Given the description of an element on the screen output the (x, y) to click on. 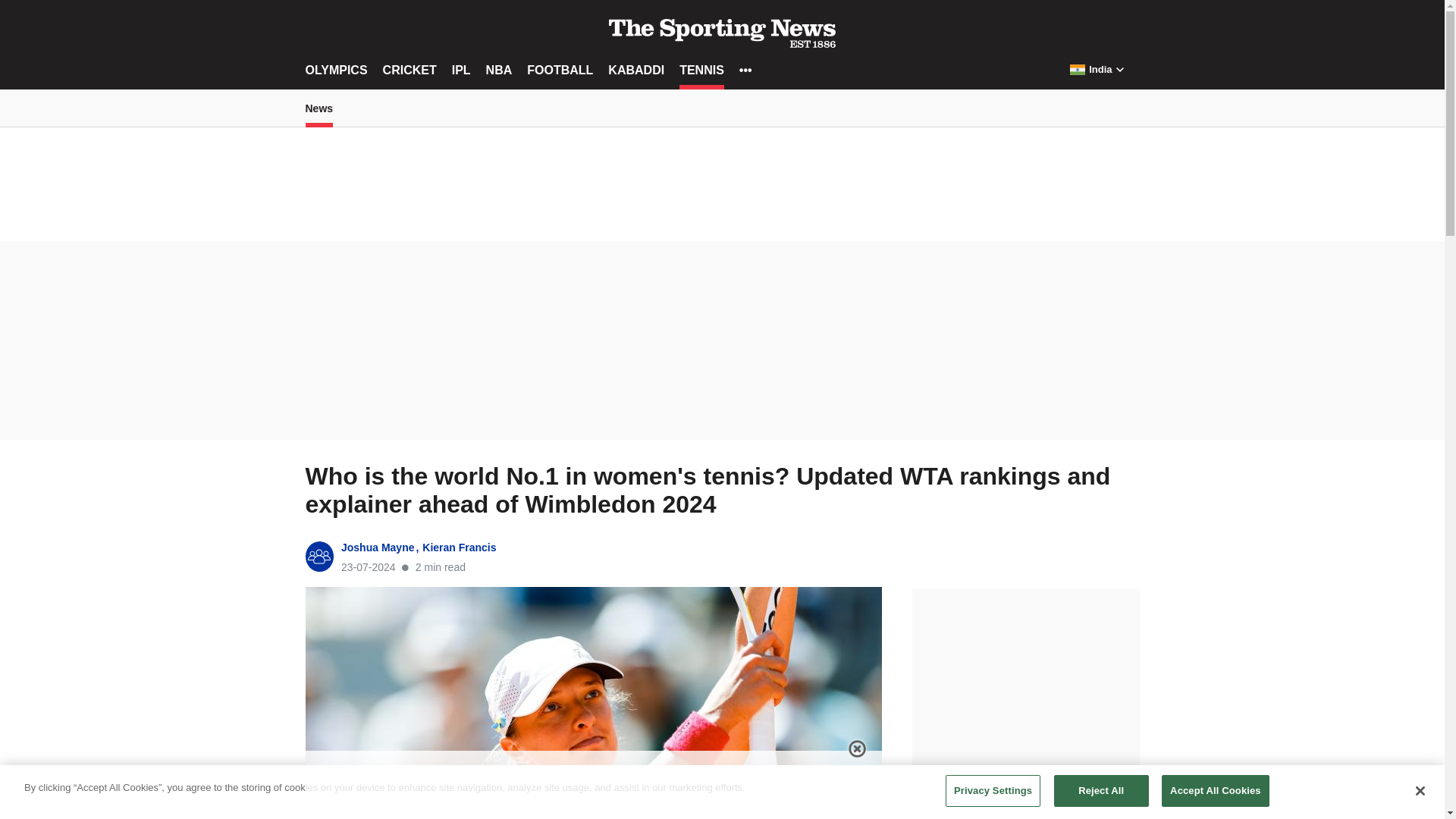
FOOTBALL (559, 70)
3rd party ad content (1024, 683)
3rd party ad content (593, 785)
TENNIS (701, 70)
OLYMPICS (335, 70)
KABADDI (635, 70)
CRICKET (409, 70)
3rd party ad content (721, 345)
